Given the description of an element on the screen output the (x, y) to click on. 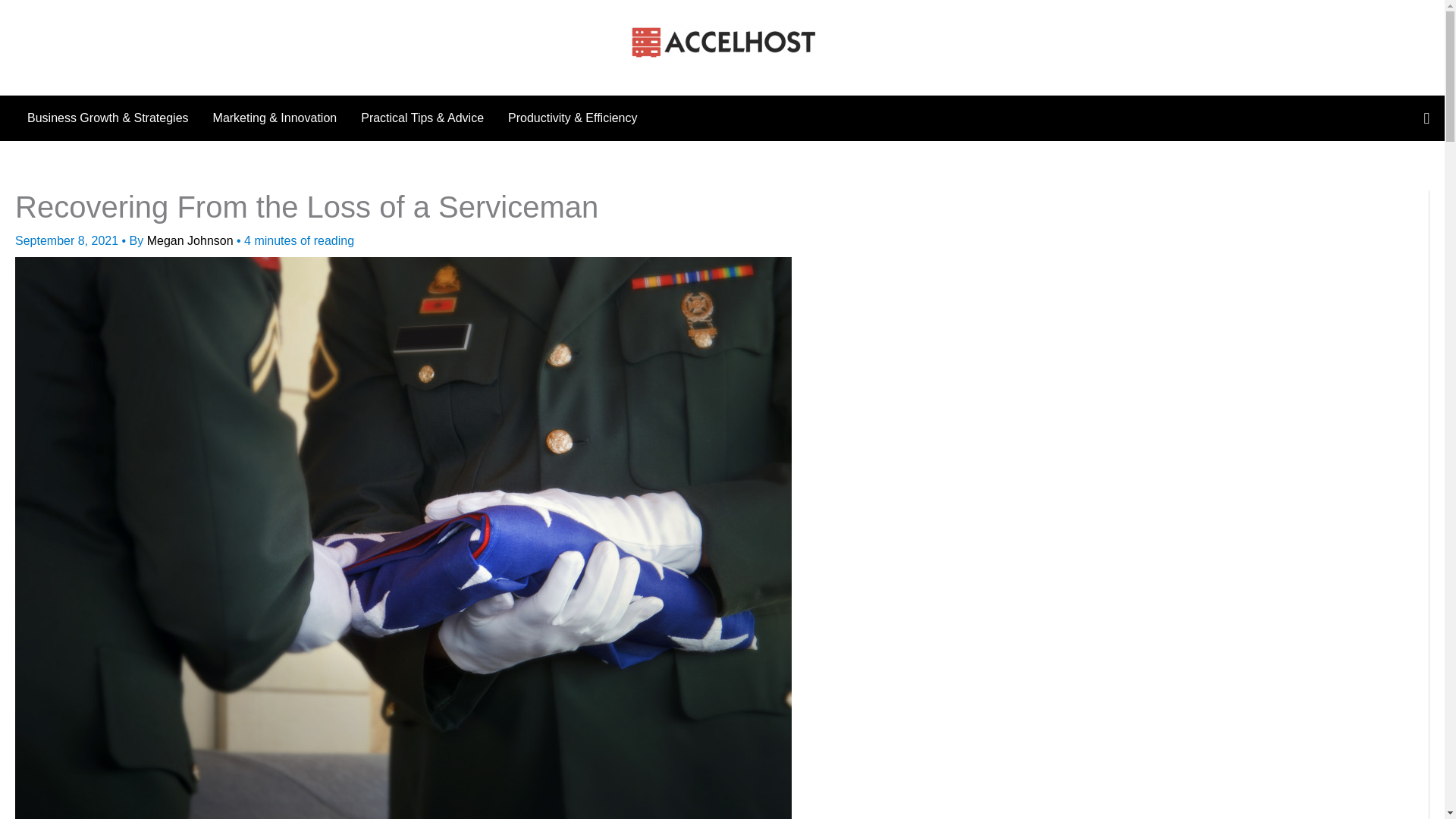
Megan Johnson (191, 240)
View all posts by Megan Johnson (191, 240)
Search (1426, 117)
